Given the description of an element on the screen output the (x, y) to click on. 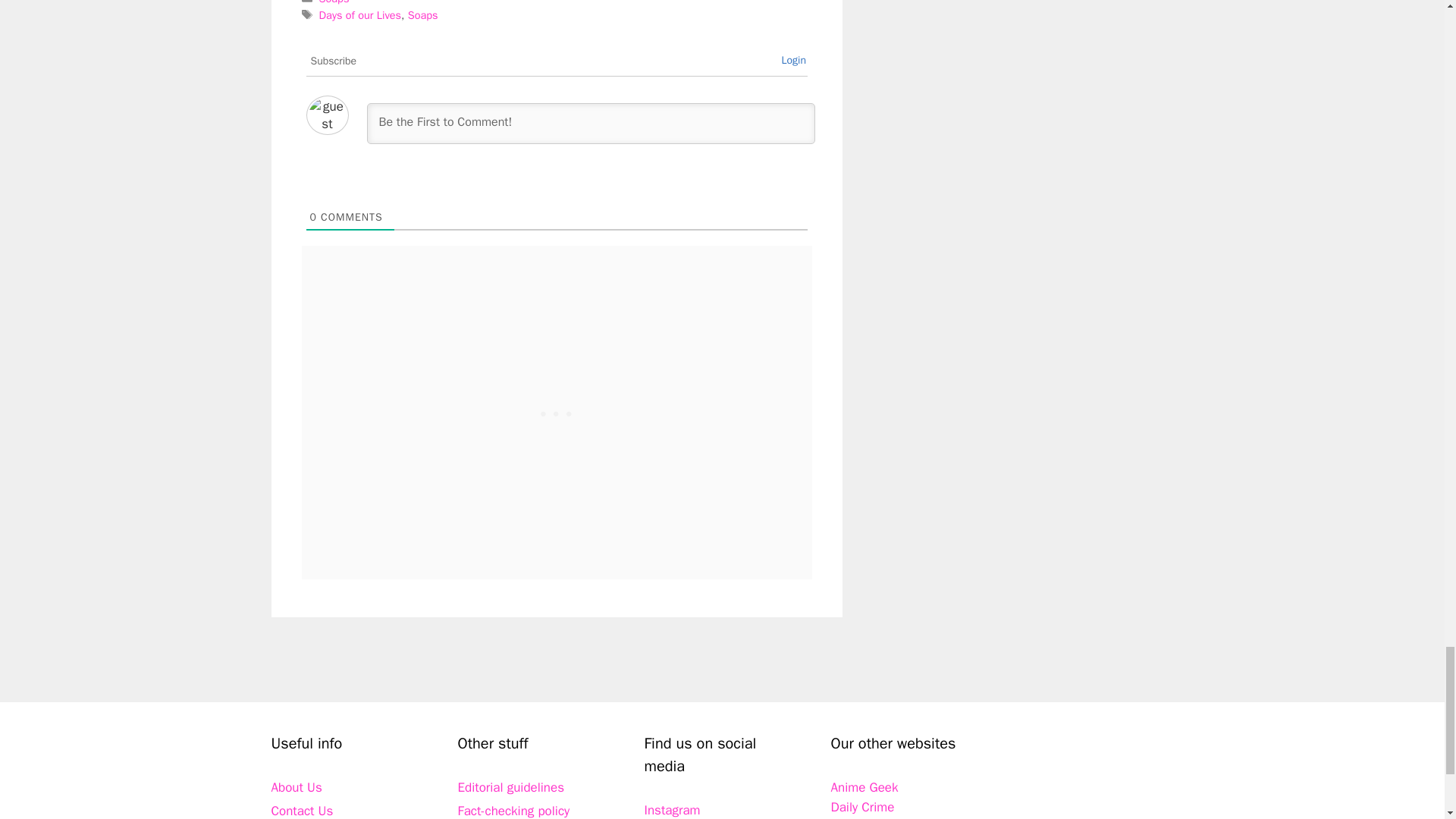
Contact Us (301, 811)
Days of our Lives (359, 15)
About Us (295, 787)
Soaps (422, 15)
Anime Geek (864, 787)
Login (793, 60)
Editorial guidelines (511, 787)
Instagram (672, 810)
Soaps (333, 2)
Fact-checking policy (514, 811)
